Given the description of an element on the screen output the (x, y) to click on. 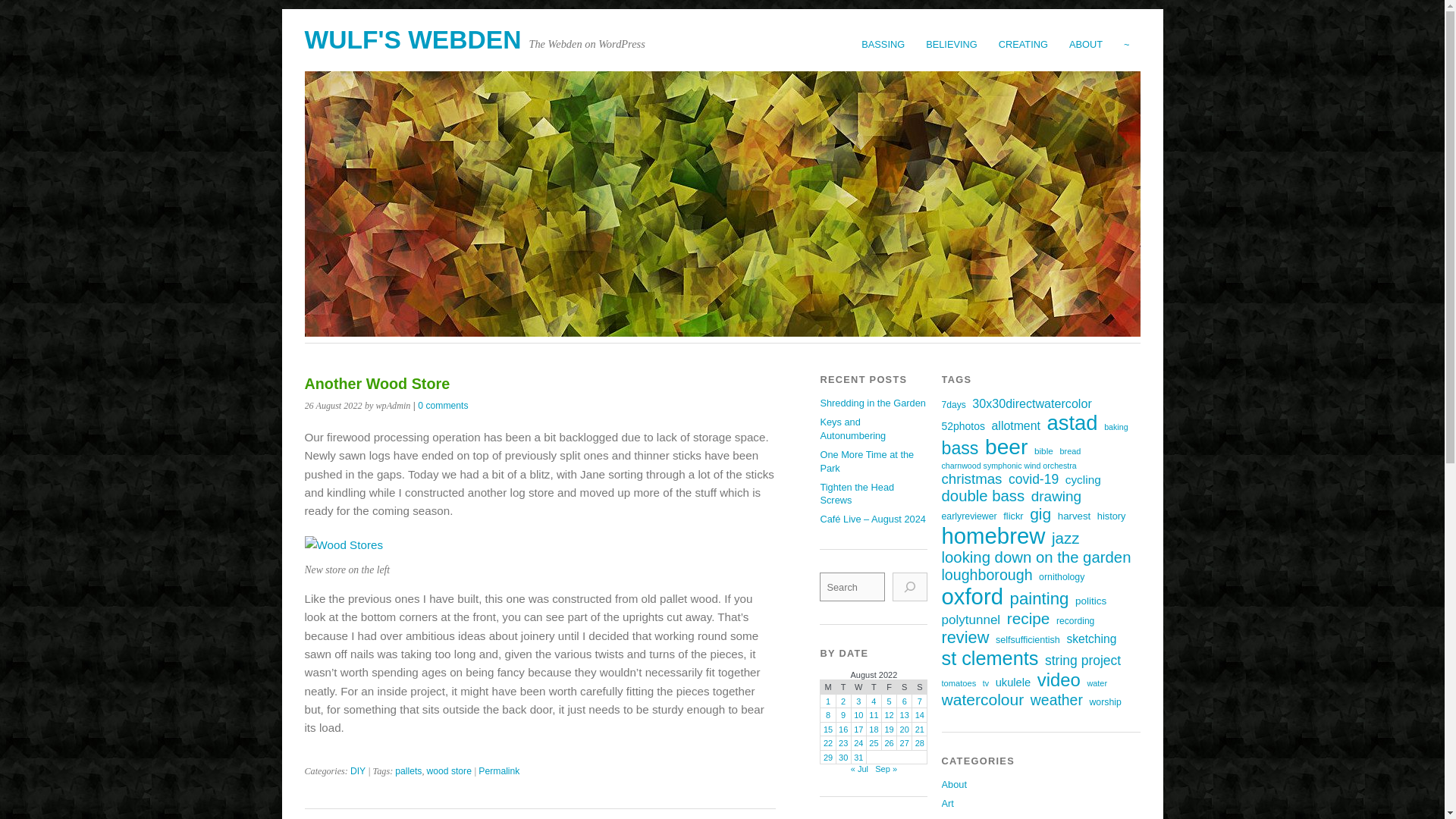
DIY (357, 770)
12 (888, 714)
13 (903, 714)
Thursday (873, 687)
17 (858, 728)
Sunday (919, 687)
WULF'S WEBDEN (412, 39)
wood store (448, 770)
16 (842, 728)
Permalink (499, 770)
